Given the description of an element on the screen output the (x, y) to click on. 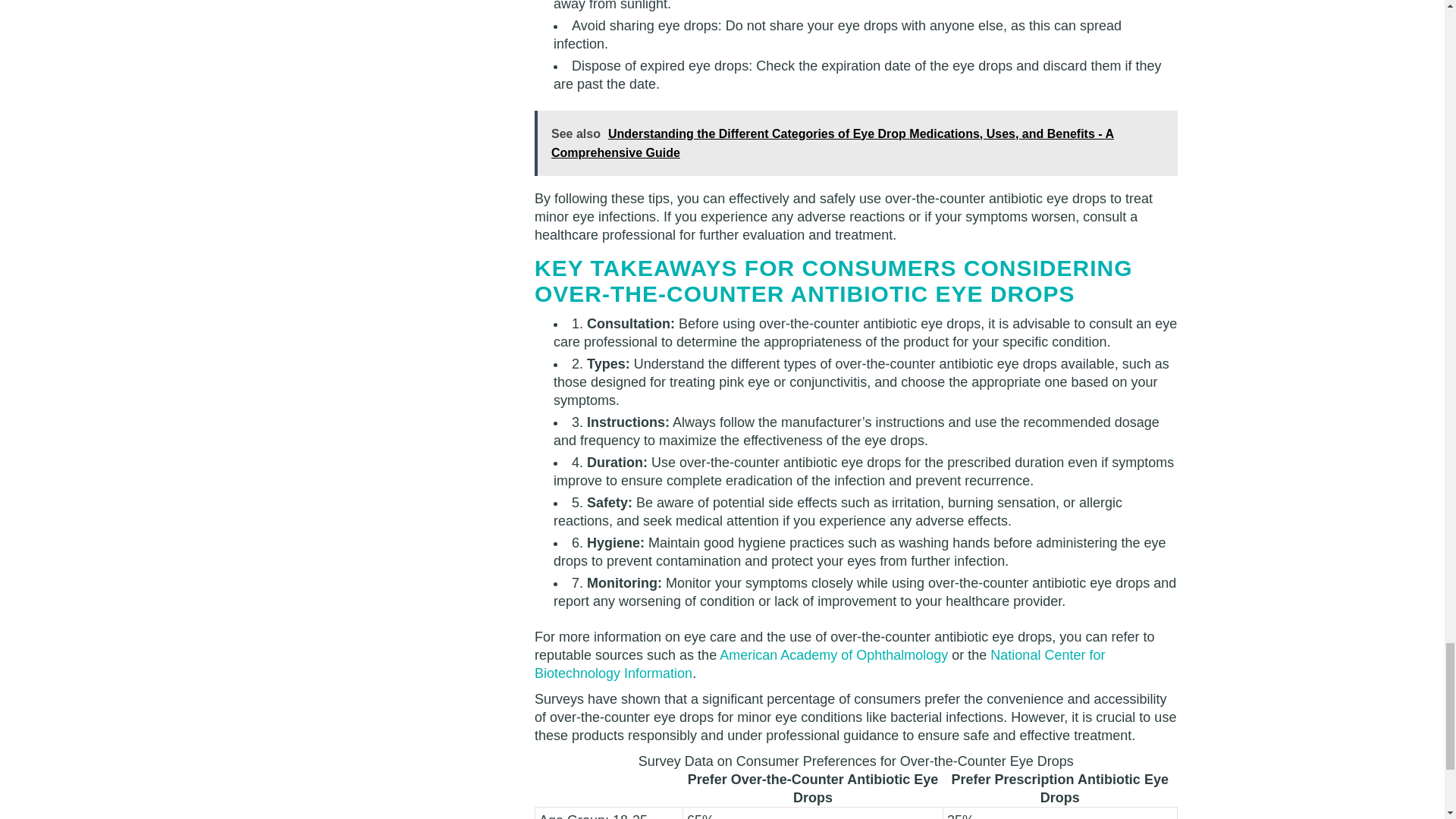
National Center for Biotechnology Information (819, 663)
American Academy of Ophthalmology (833, 654)
